Given the description of an element on the screen output the (x, y) to click on. 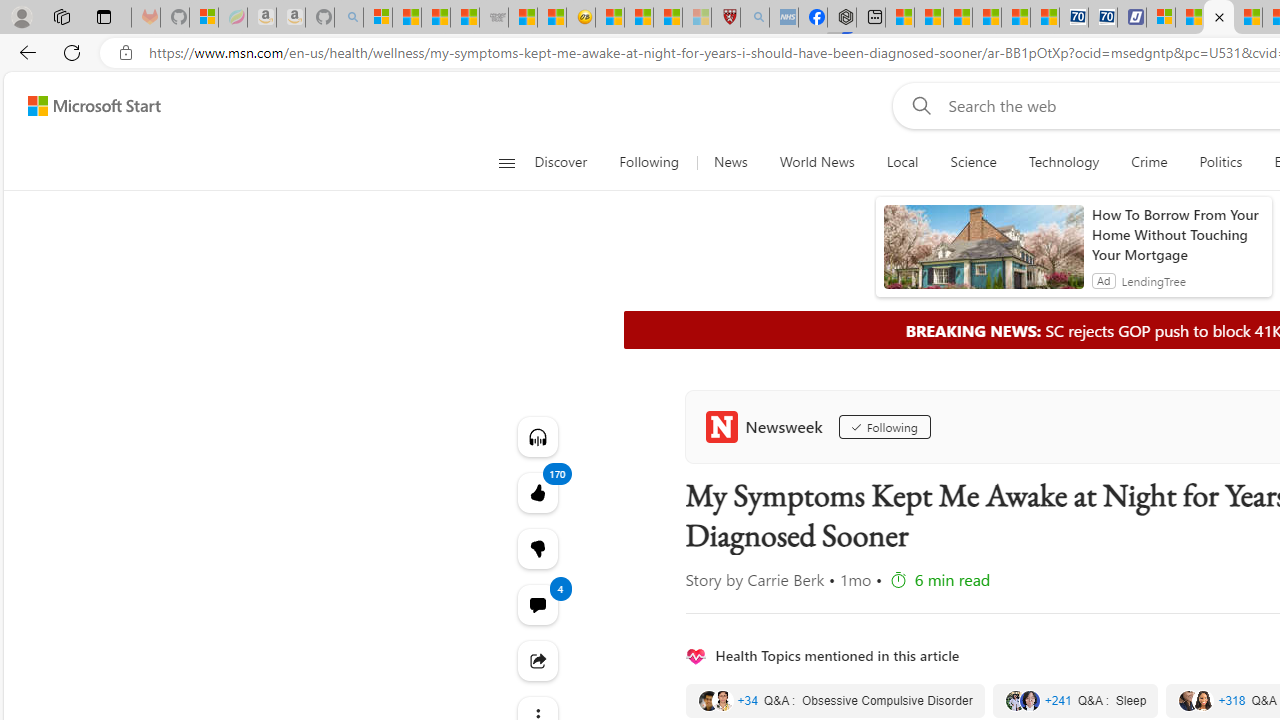
NCL Adult Asthma Inhaler Choice Guideline - Sleeping (783, 17)
Obsessive Compulsive Disorder (834, 700)
LendingTree (1153, 280)
Recipes - MSN (610, 17)
170 Like (537, 492)
How To Borrow From Your Home Without Touching Your Mortgage (1177, 234)
Skip to content (86, 105)
